Given the description of an element on the screen output the (x, y) to click on. 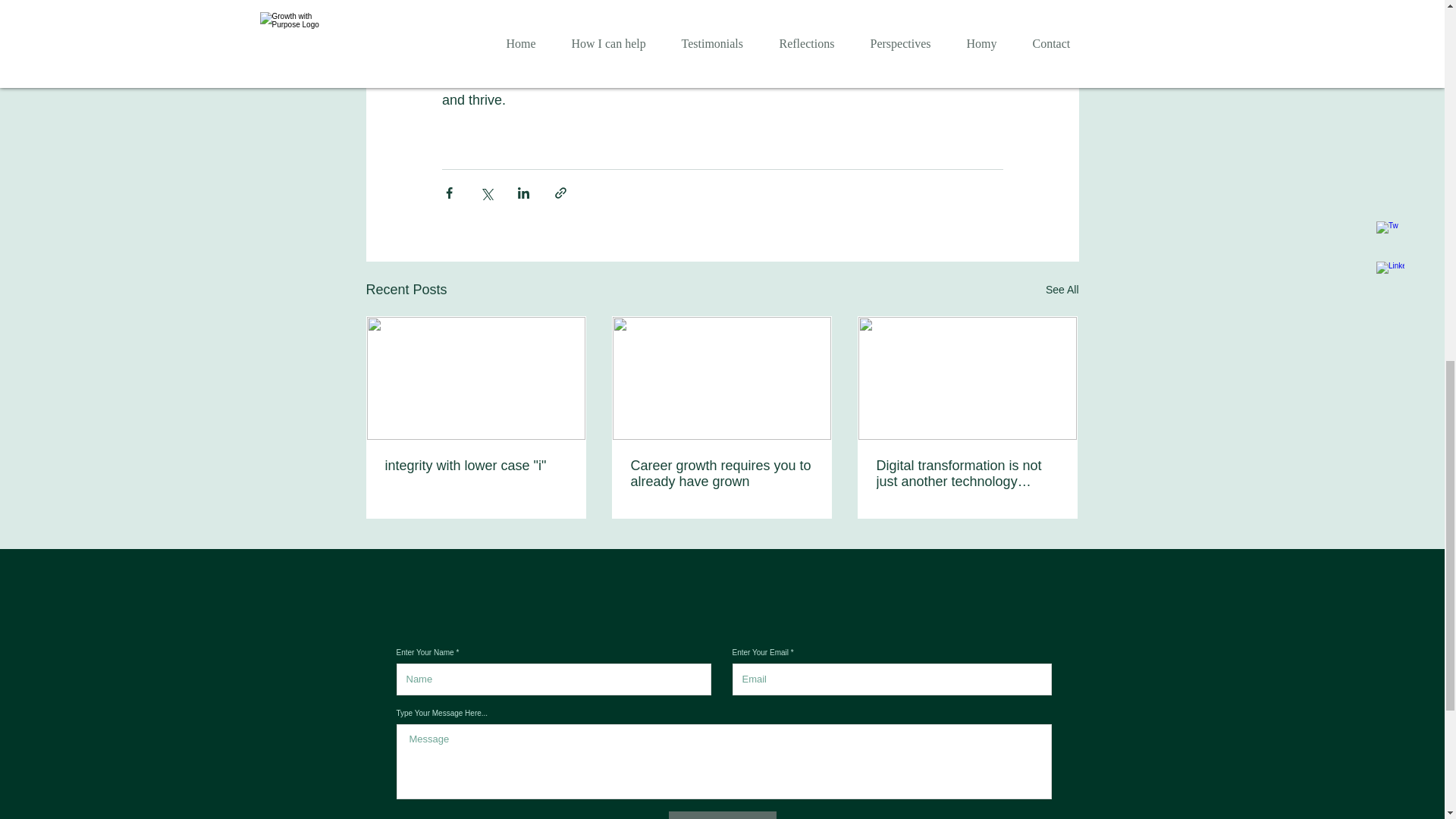
Submit (722, 815)
Career growth requires you to already have grown (721, 473)
integrity with lower case "i" (476, 465)
See All (1061, 290)
